Given the description of an element on the screen output the (x, y) to click on. 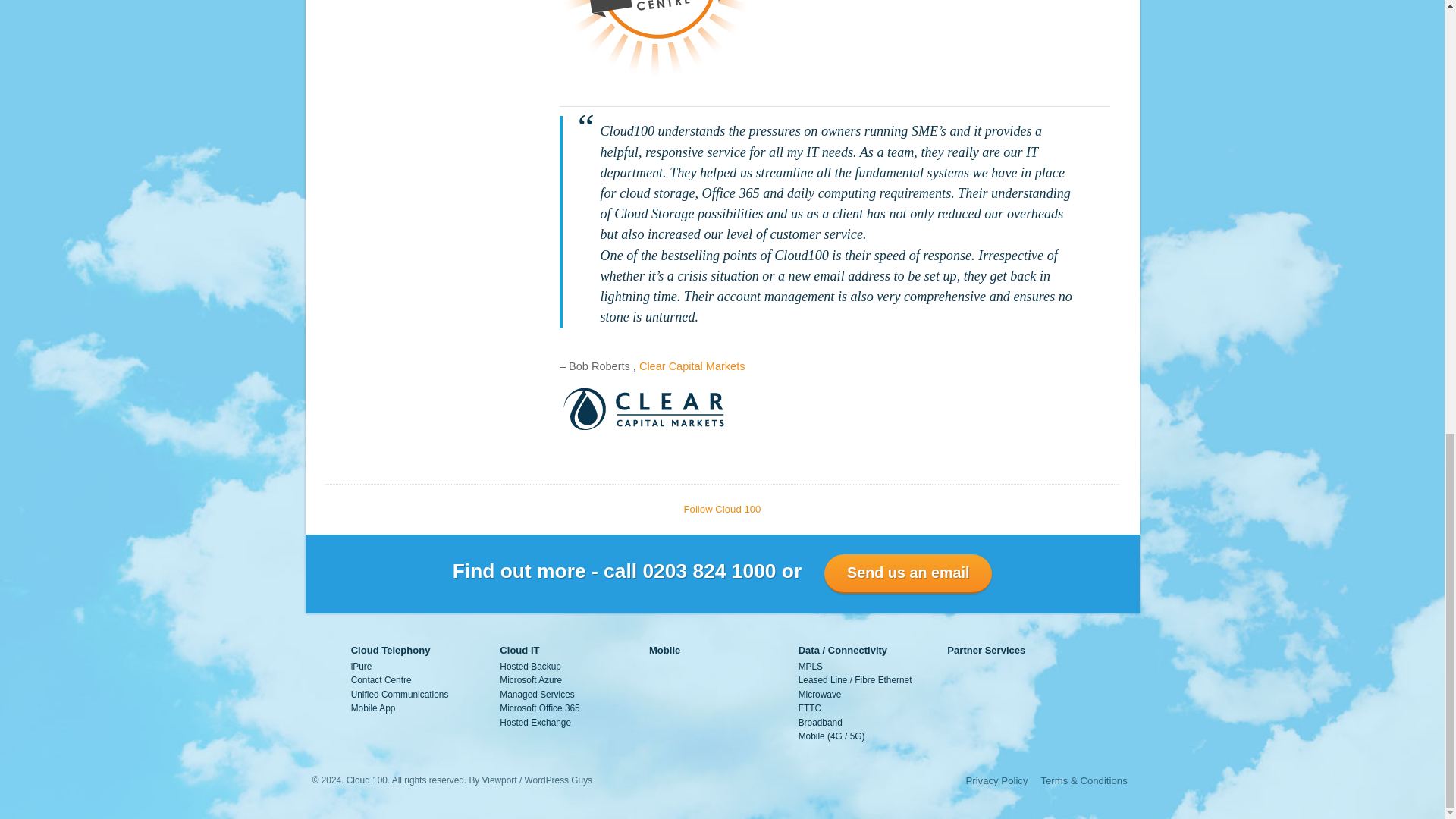
Clear Capital Markets (692, 366)
Follow Cloud 100 (722, 509)
iPure (361, 665)
Managed Services (536, 694)
Hosted Backup (529, 665)
Mobile (664, 650)
Unified Communications (399, 694)
Send us an email (907, 573)
Microsoft Azure (530, 679)
Hosted Exchange (534, 722)
Microsoft Office 365 (539, 707)
MPLS (809, 665)
Mobile App (373, 707)
Cloud Telephony (390, 650)
Cloud IT (518, 650)
